Given the description of an element on the screen output the (x, y) to click on. 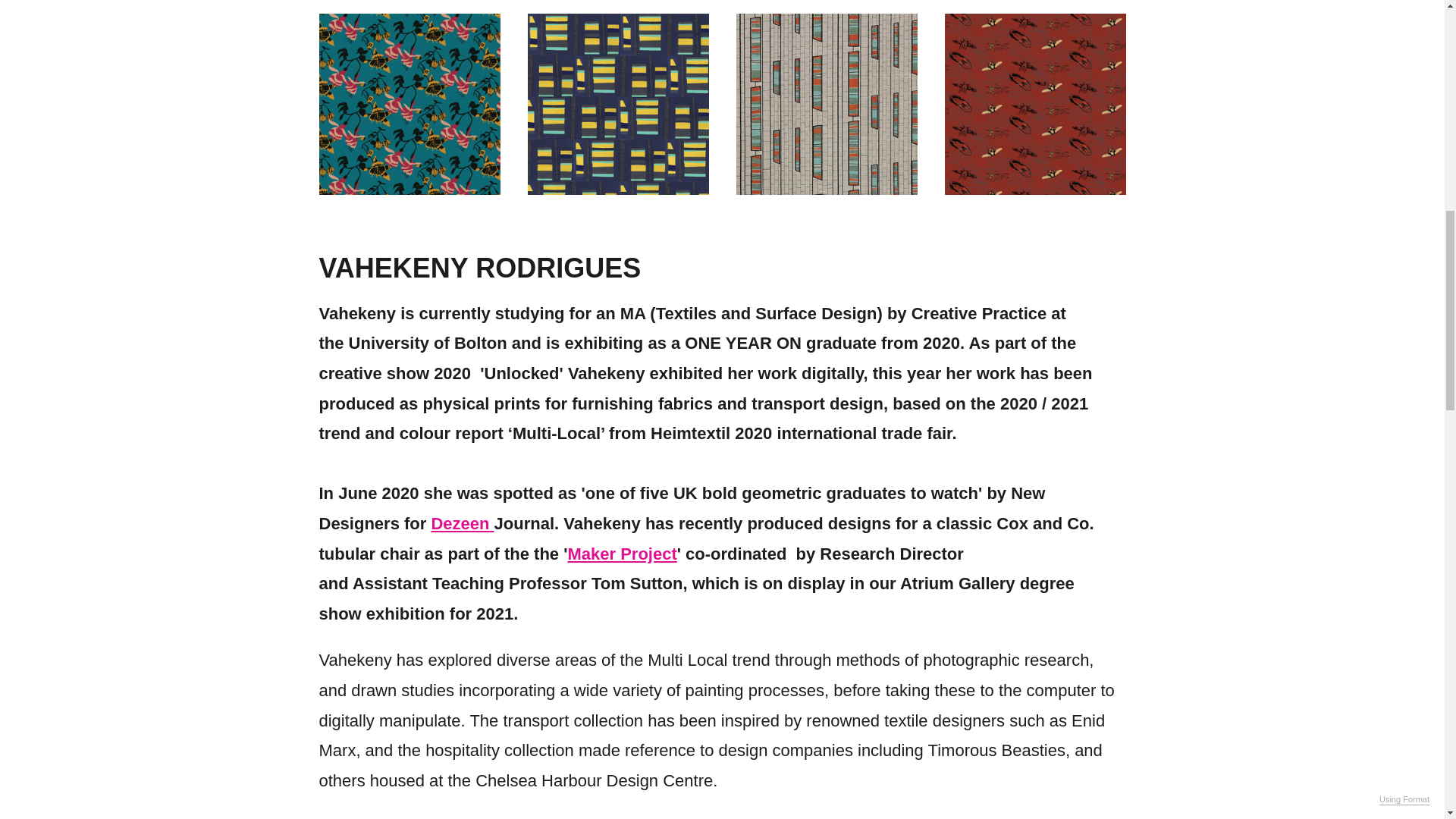
Maker Project (622, 553)
Dezeen (461, 523)
